Given the description of an element on the screen output the (x, y) to click on. 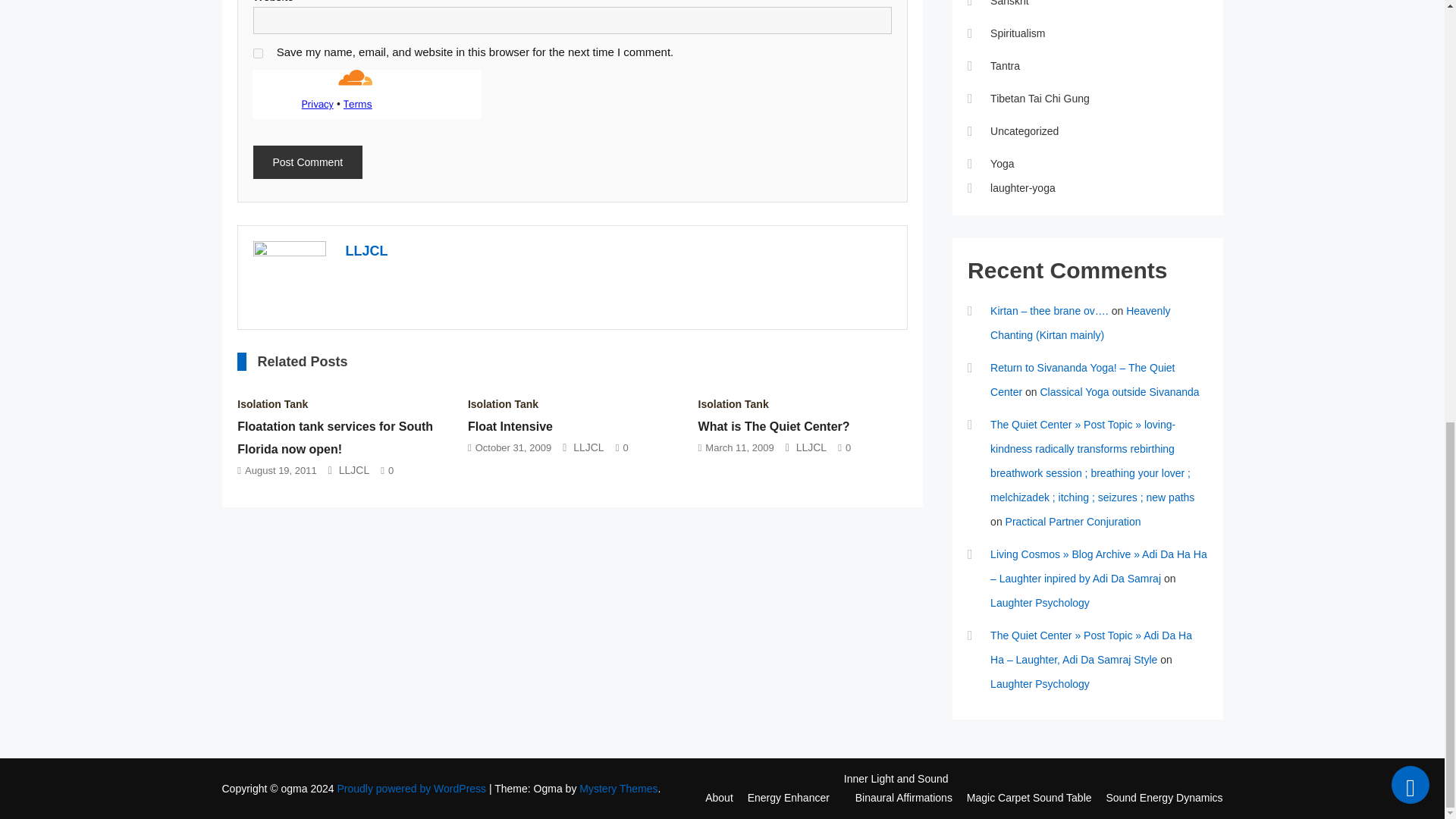
What is The Quiet Center? (774, 426)
Floatation tank services for South Florida now open! (334, 437)
LLJCL (367, 250)
Isolation Tank (272, 404)
Float Intensive (510, 426)
LLJCL (588, 447)
August 19, 2011 (280, 470)
Post Comment (307, 162)
Post Comment (307, 162)
October 31, 2009 (513, 447)
